Given the description of an element on the screen output the (x, y) to click on. 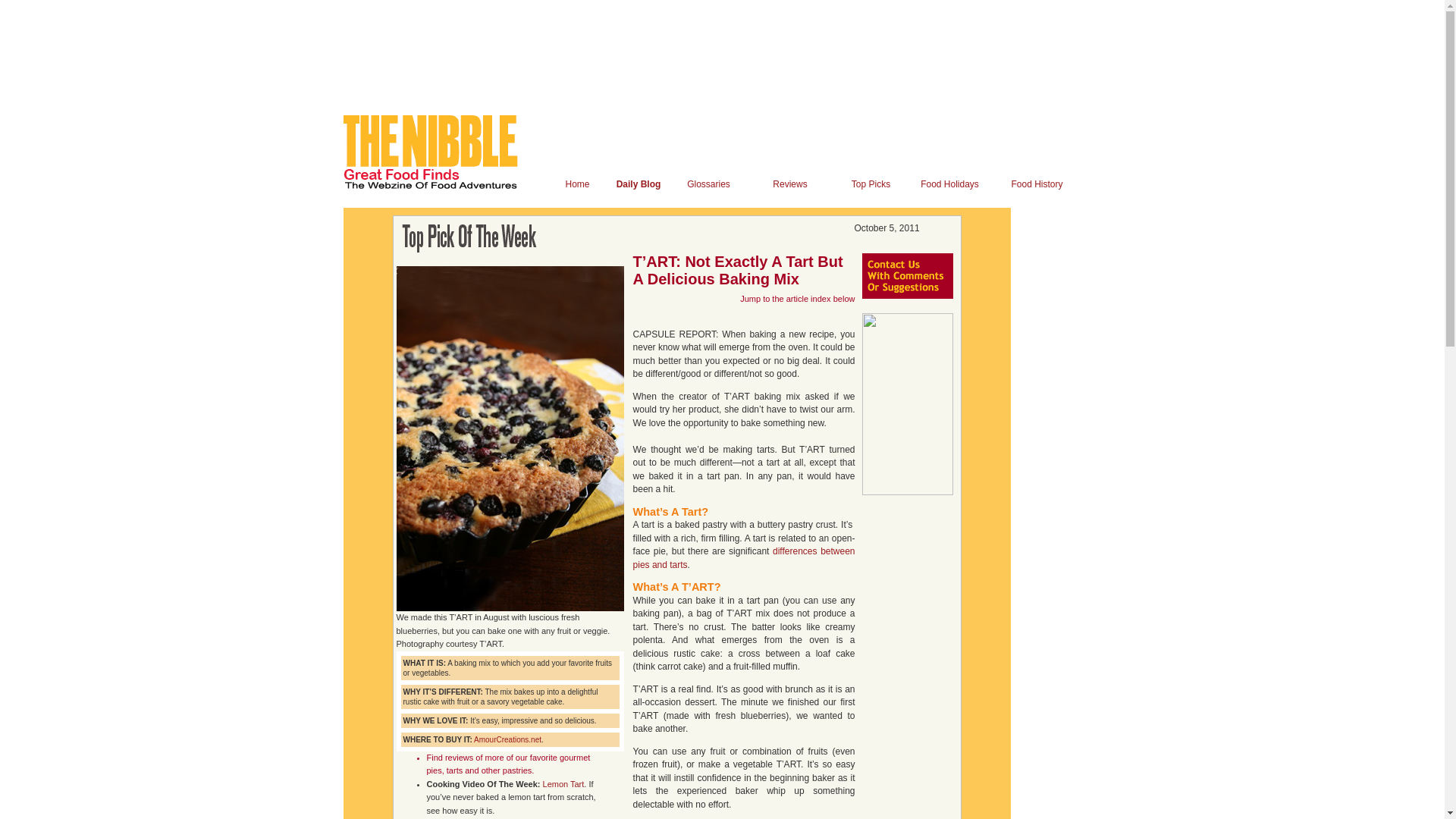
differences between pies and tarts (744, 558)
Food History (1036, 183)
Glossaries (708, 183)
Advertisement (1062, 744)
Top Picks (870, 183)
Daily Blog (638, 183)
Home (576, 183)
Advertisement (618, 41)
Food Holidays (949, 183)
below (844, 298)
